Given the description of an element on the screen output the (x, y) to click on. 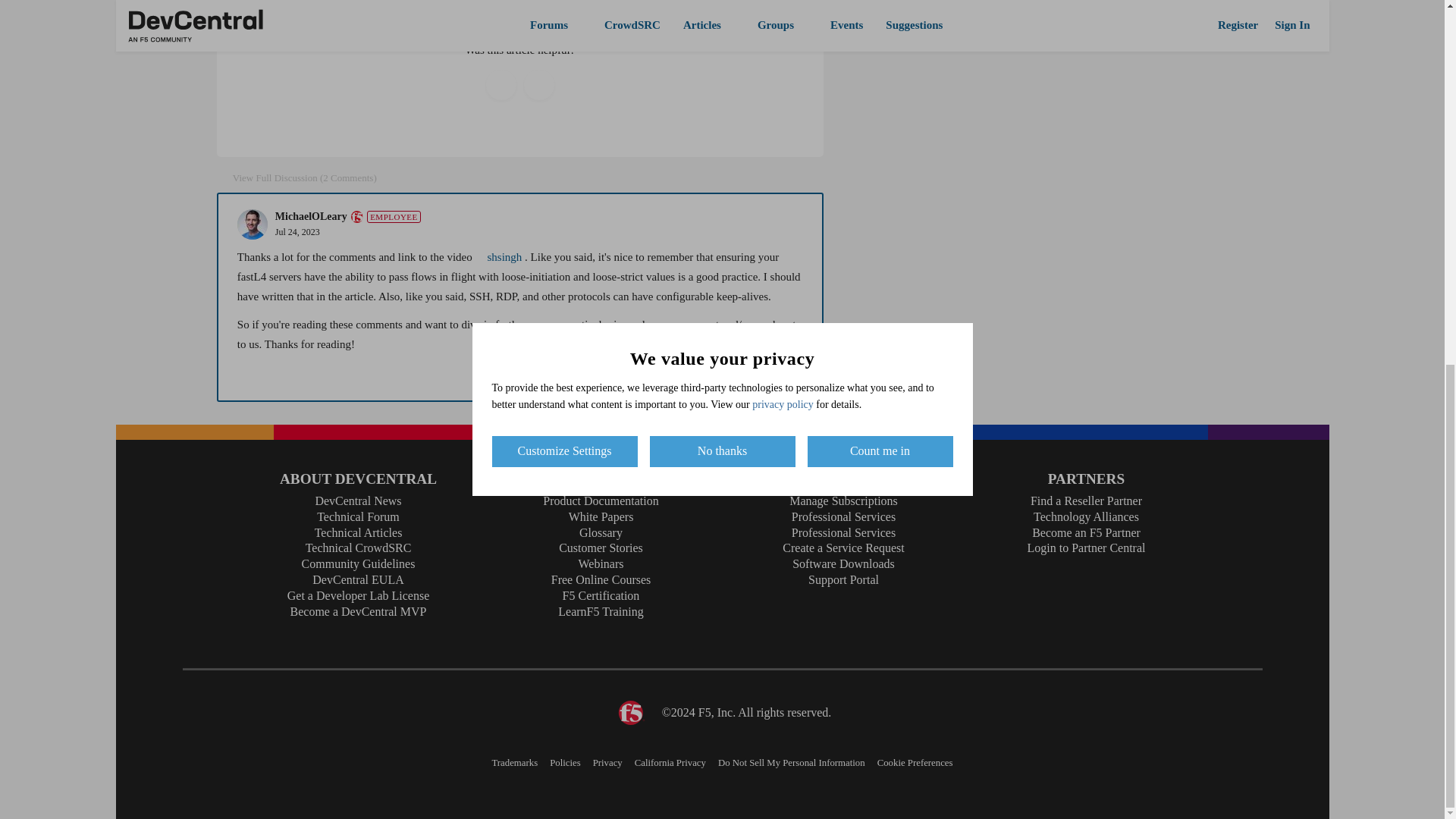
July 24, 2023 at 10:53 PM (297, 231)
